Given the description of an element on the screen output the (x, y) to click on. 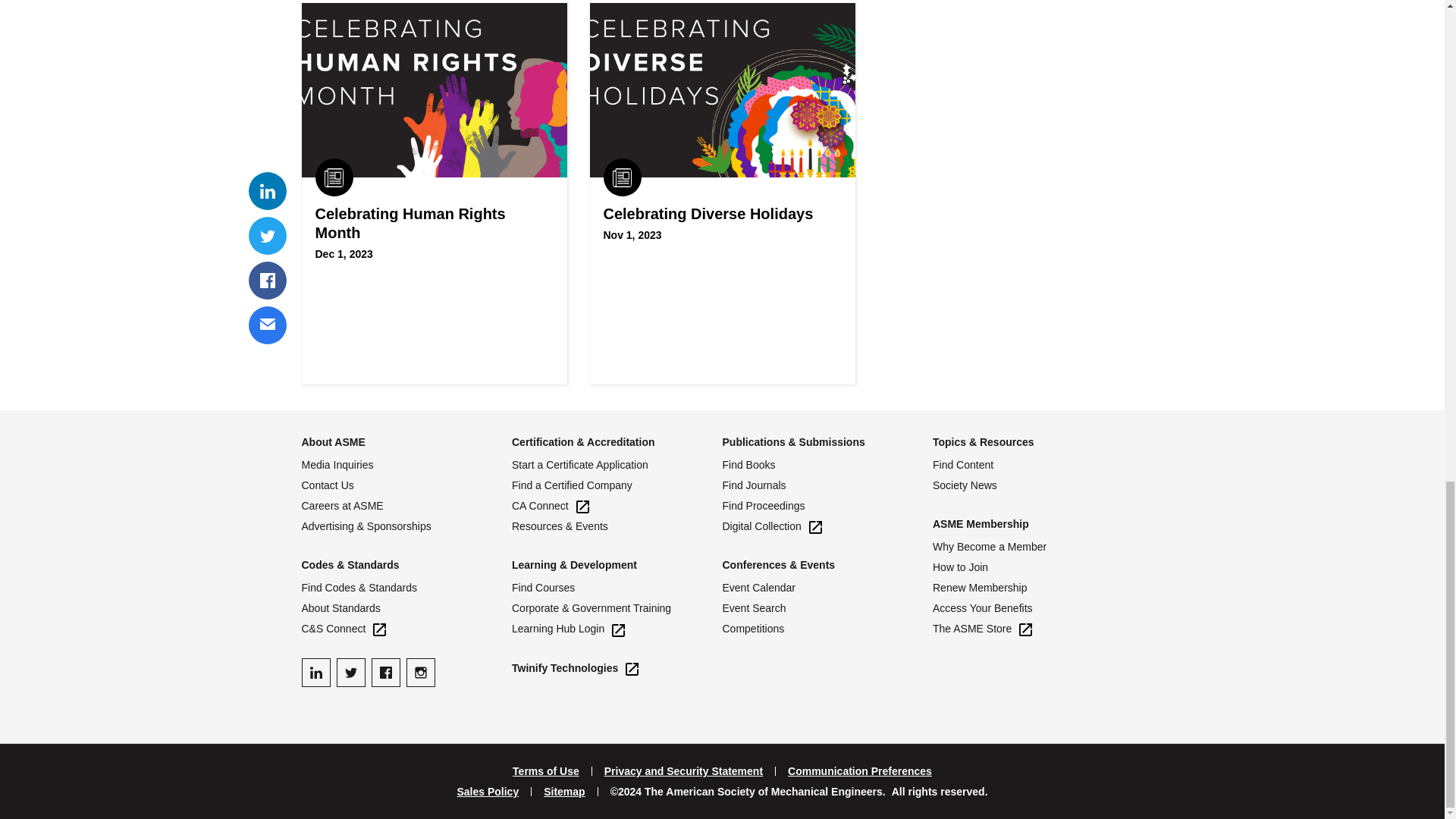
Contact Us (406, 485)
ASME on Facebook (385, 672)
ASME on Instagram (420, 672)
ASME on LinkedIn (315, 672)
Media Inquiries (406, 464)
ASME on Twitter (350, 672)
About ASME (333, 441)
